Given the description of an element on the screen output the (x, y) to click on. 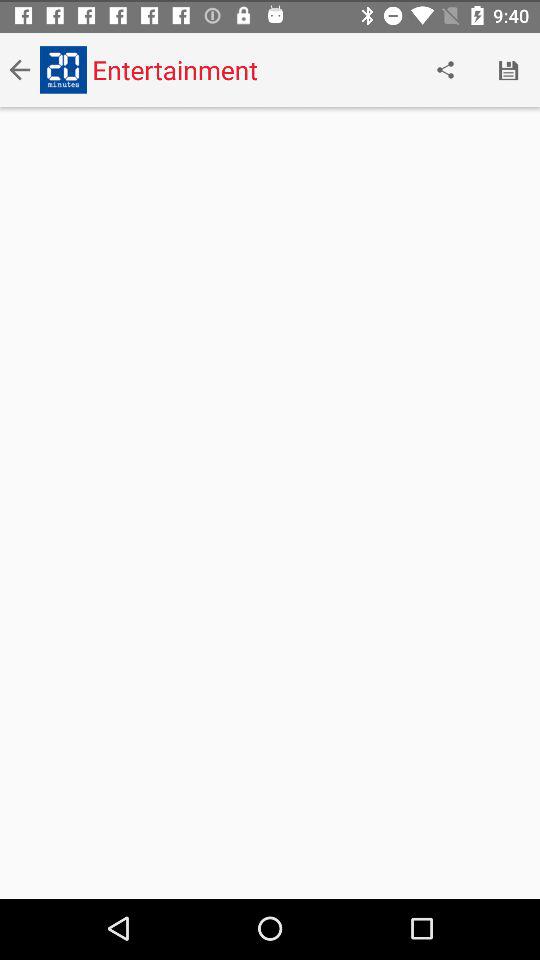
press icon next to entertainment item (444, 67)
